Given the description of an element on the screen output the (x, y) to click on. 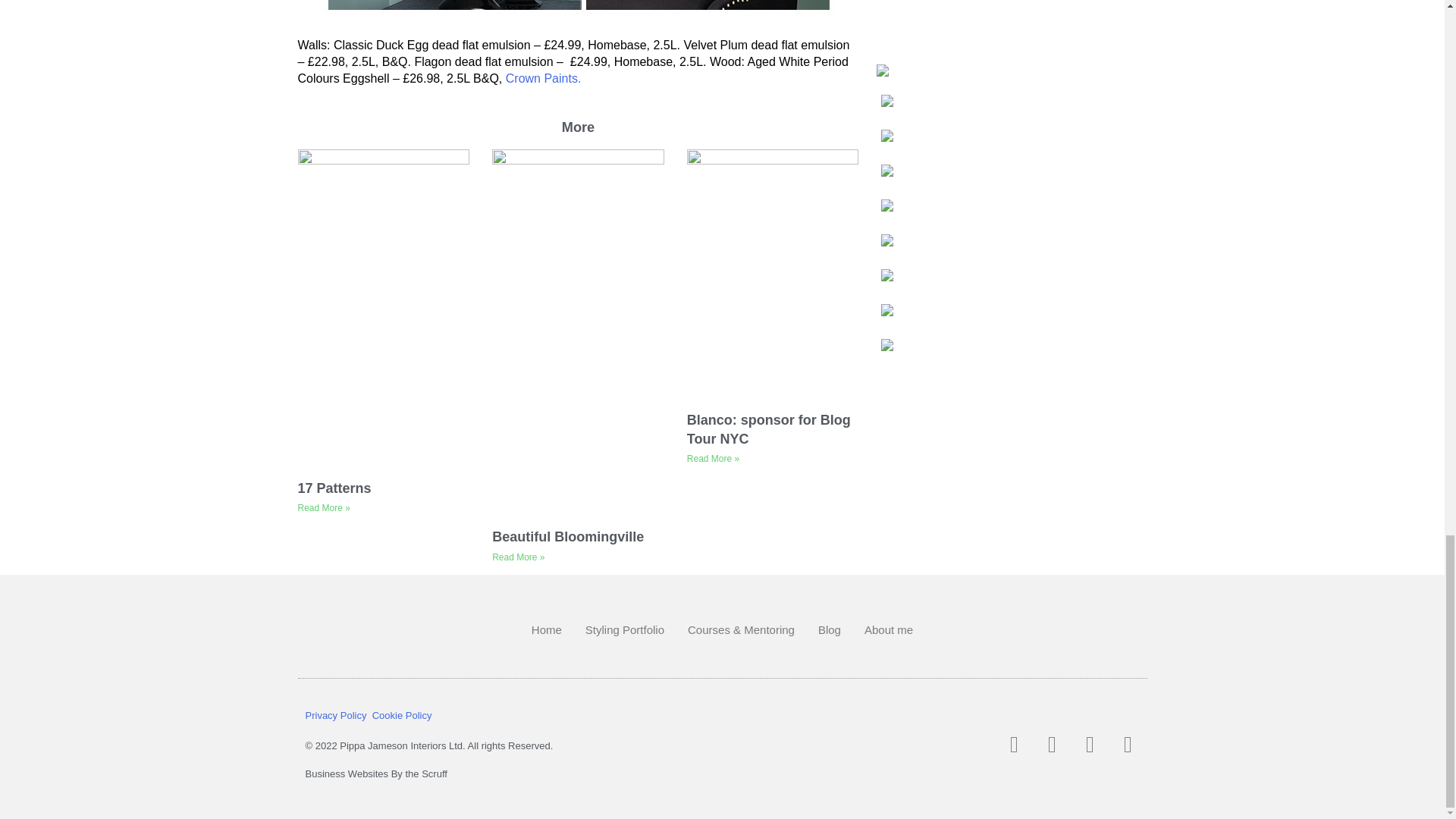
17 Patterns (334, 488)
Beautiful Bloomingville (567, 536)
Crown Paints. (542, 78)
